Given the description of an element on the screen output the (x, y) to click on. 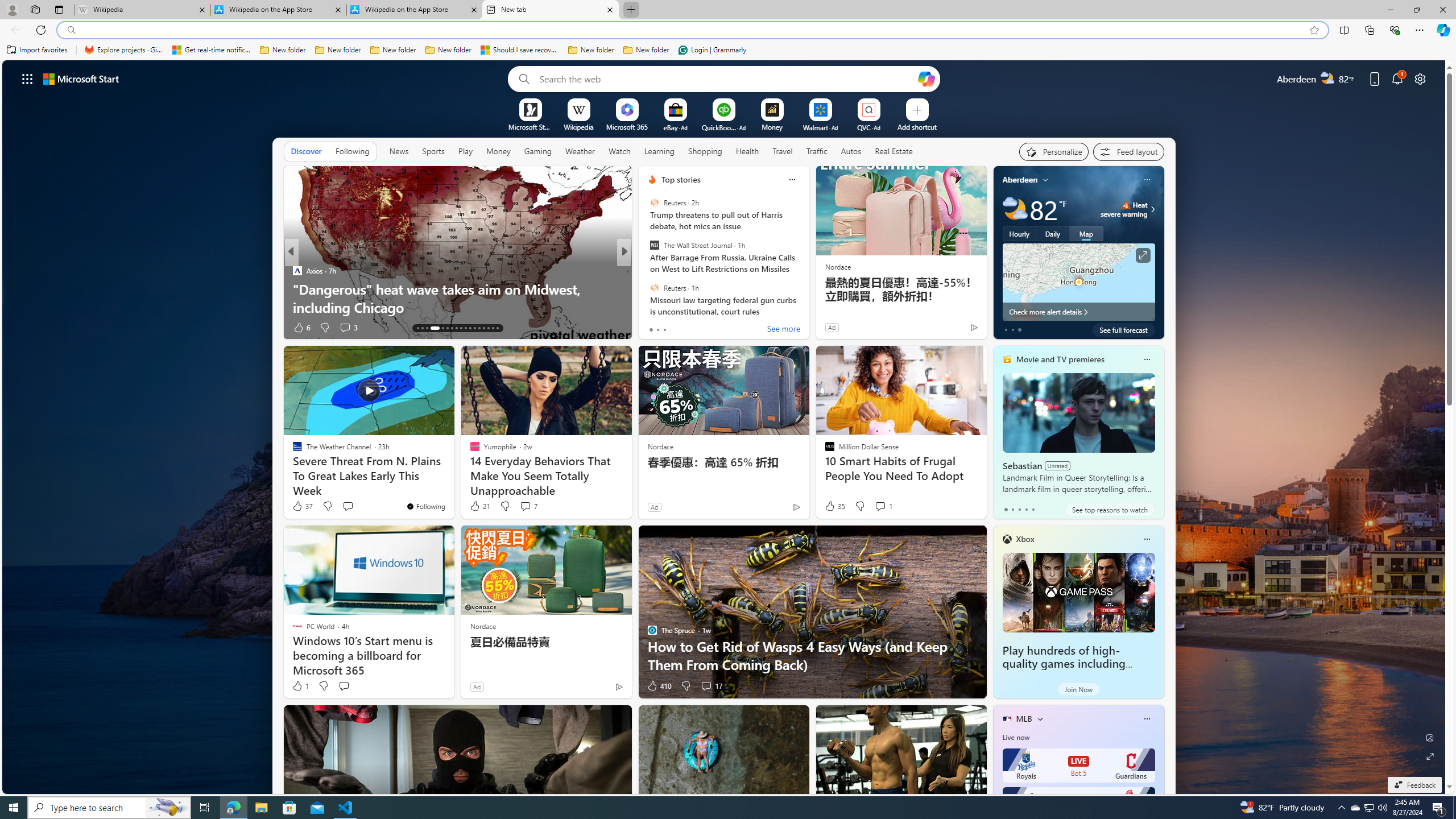
IT Concept (658, 288)
AutomationID: tab-17 (439, 328)
View comments 7 Comment (525, 505)
More interests (1039, 718)
View comments 33 Comment (703, 327)
You're following The Weather Channel (425, 505)
Search icon (70, 29)
410 Like (658, 685)
